Given the description of an element on the screen output the (x, y) to click on. 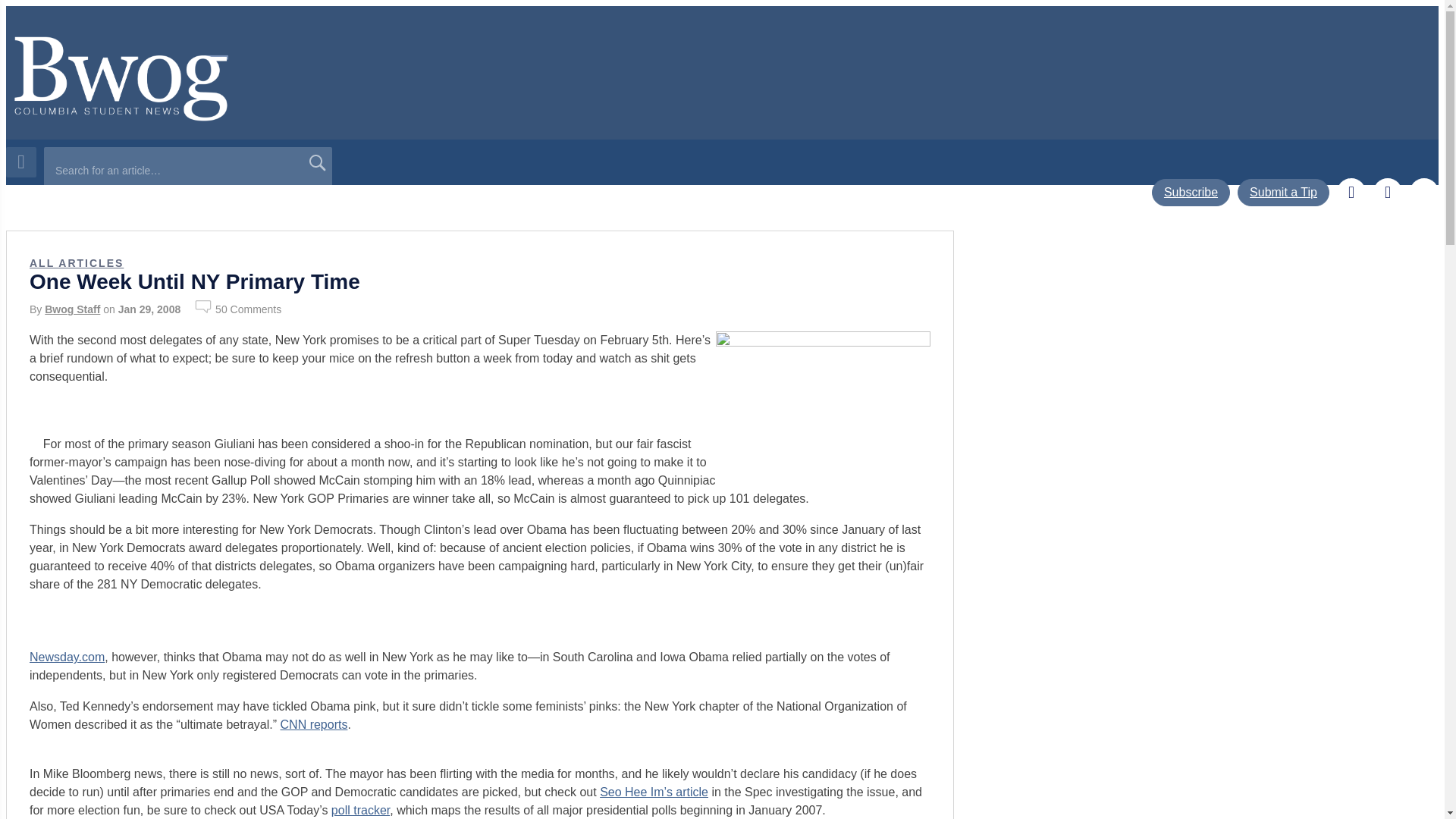
Search (316, 162)
Search (316, 162)
Submit a Tip (1283, 192)
Subscribe (1190, 192)
